Given the description of an element on the screen output the (x, y) to click on. 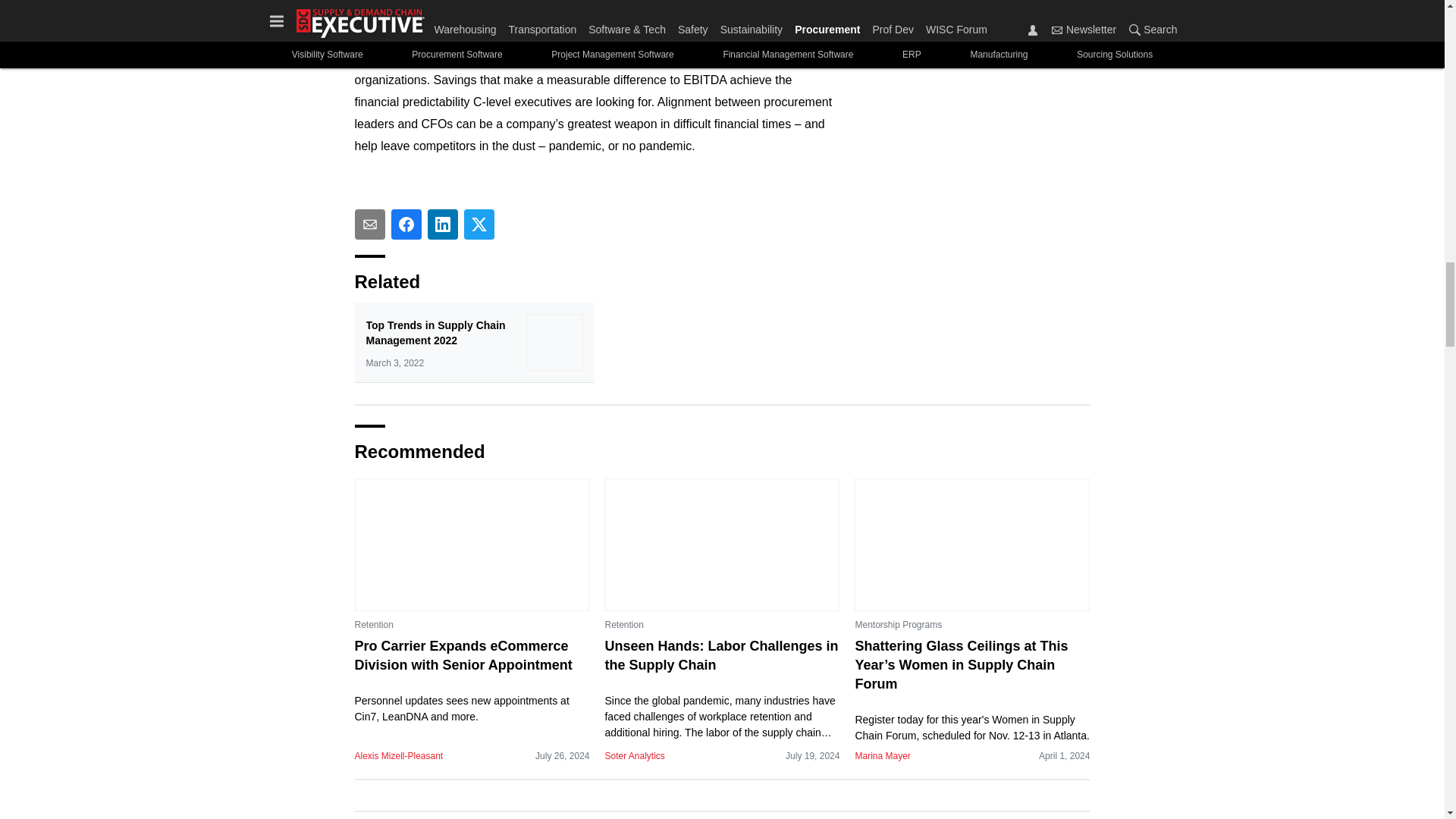
Share To linkedin (443, 224)
Share To email (370, 224)
Share To twitter (479, 224)
Share To facebook (406, 224)
